Given the description of an element on the screen output the (x, y) to click on. 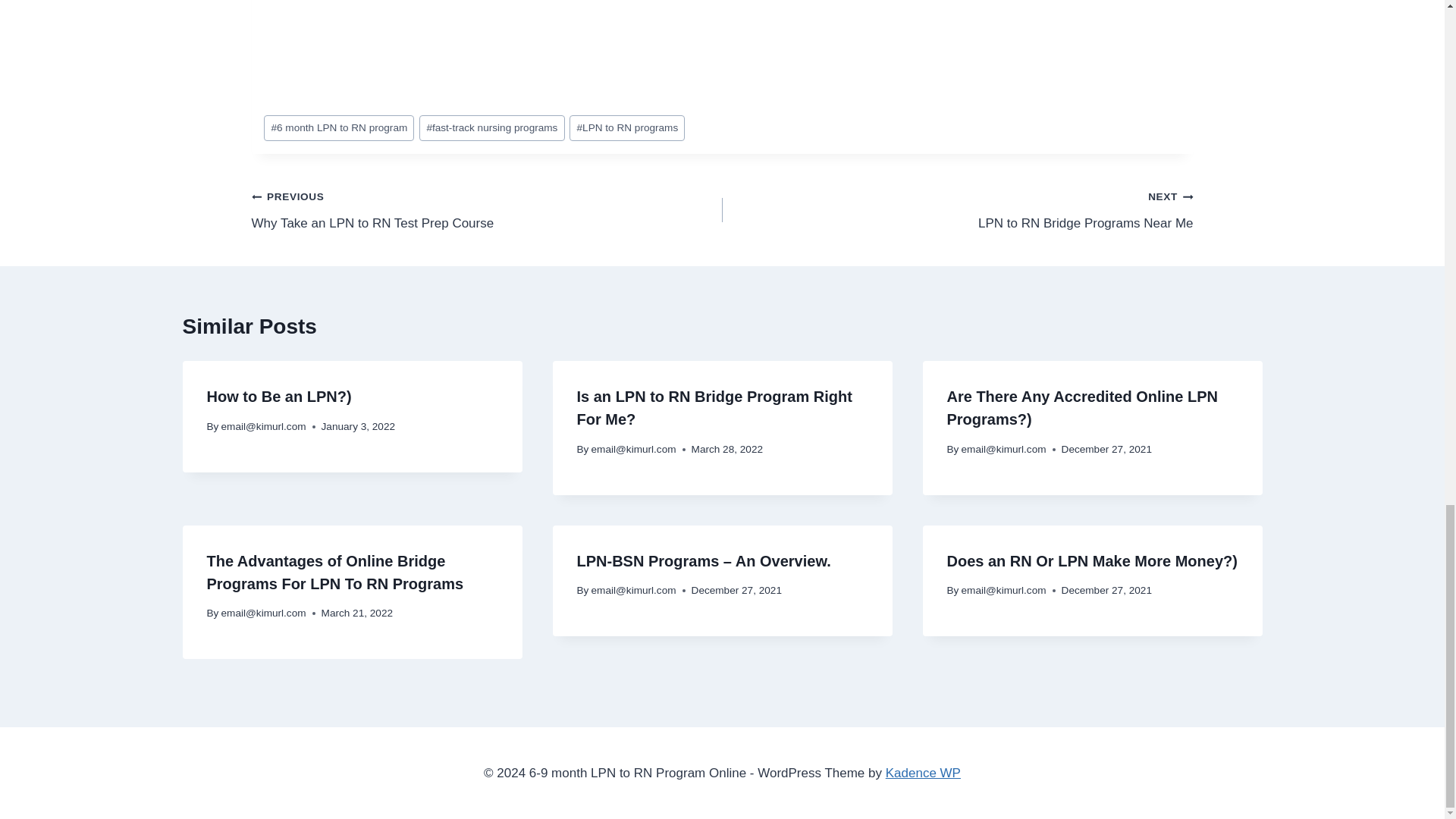
LPN to RN programs (626, 128)
Is an LPN to RN Bridge Program Right For Me? (713, 407)
6 month LPN to RN program (338, 128)
fast-track nursing programs (957, 209)
Kadence WP (491, 128)
